Given the description of an element on the screen output the (x, y) to click on. 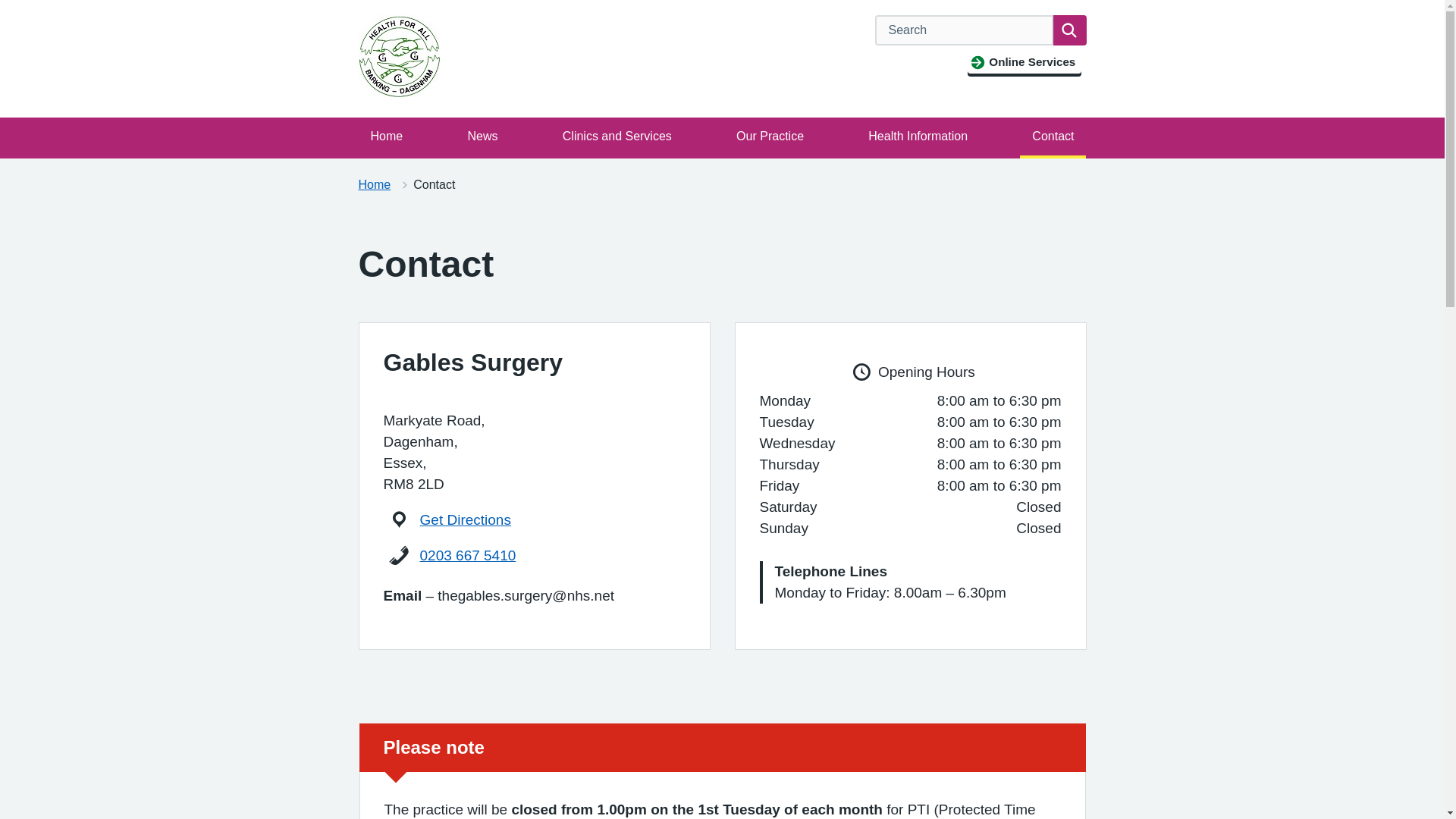
News (481, 136)
0203 667 5410 (468, 555)
Home (374, 184)
Health Information (917, 136)
Get Directions (465, 519)
Clinics and Services (617, 136)
Home (386, 136)
Online Services  (1024, 61)
Contact (1053, 136)
Search (1069, 30)
